Given the description of an element on the screen output the (x, y) to click on. 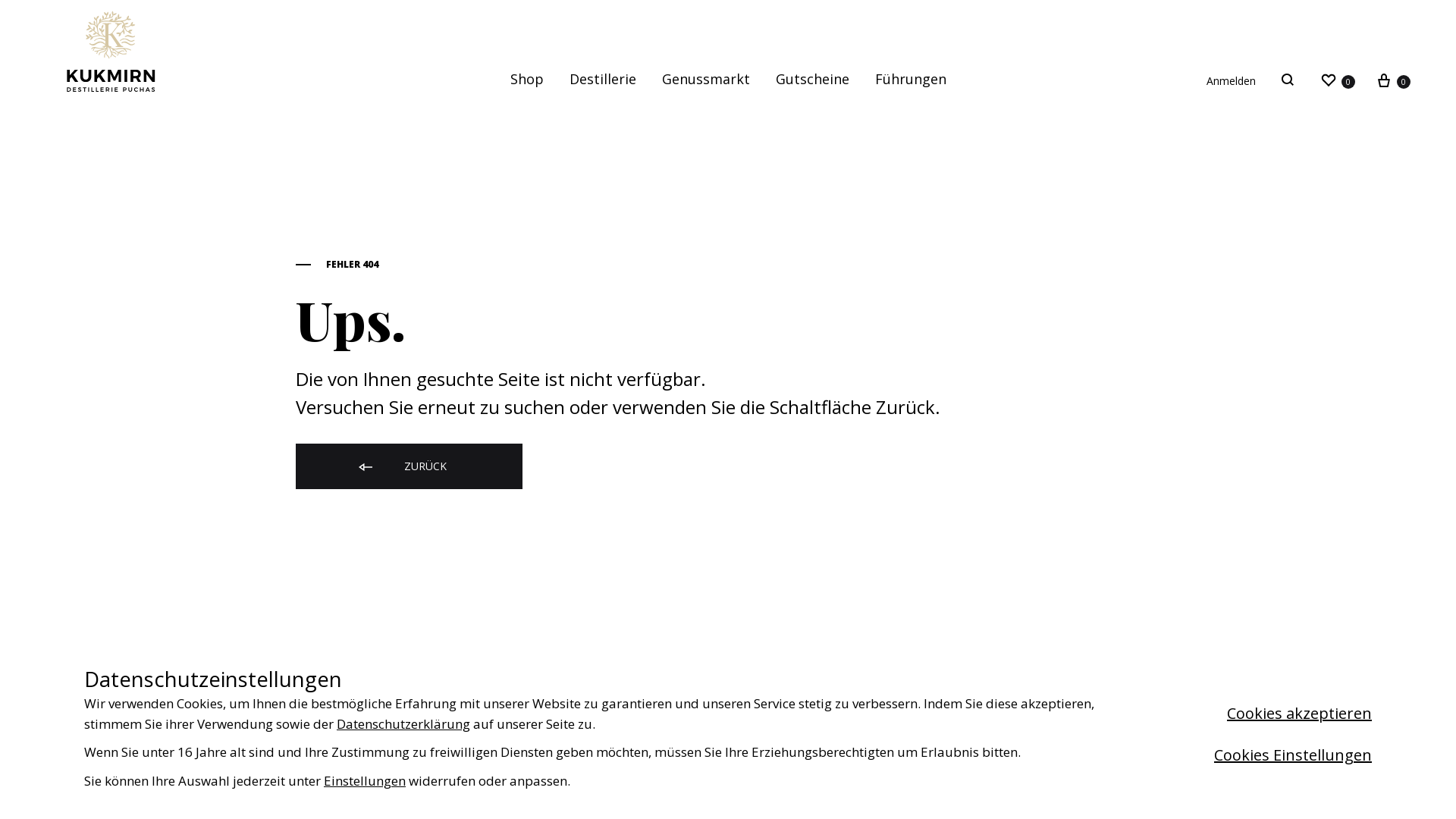
Destillerie Element type: text (601, 78)
Gutscheine Element type: text (811, 78)
Wunschliste
0 Element type: text (1337, 80)
Cookies akzeptieren Element type: text (1278, 713)
Genussmarkt Element type: text (705, 78)
Anmelden Element type: text (1230, 80)
Warenkorb
0 Element type: text (1392, 80)
Shop Element type: text (525, 78)
Cookies Einstellungen Element type: text (1251, 755)
Einstellungen Element type: text (364, 780)
